Given the description of an element on the screen output the (x, y) to click on. 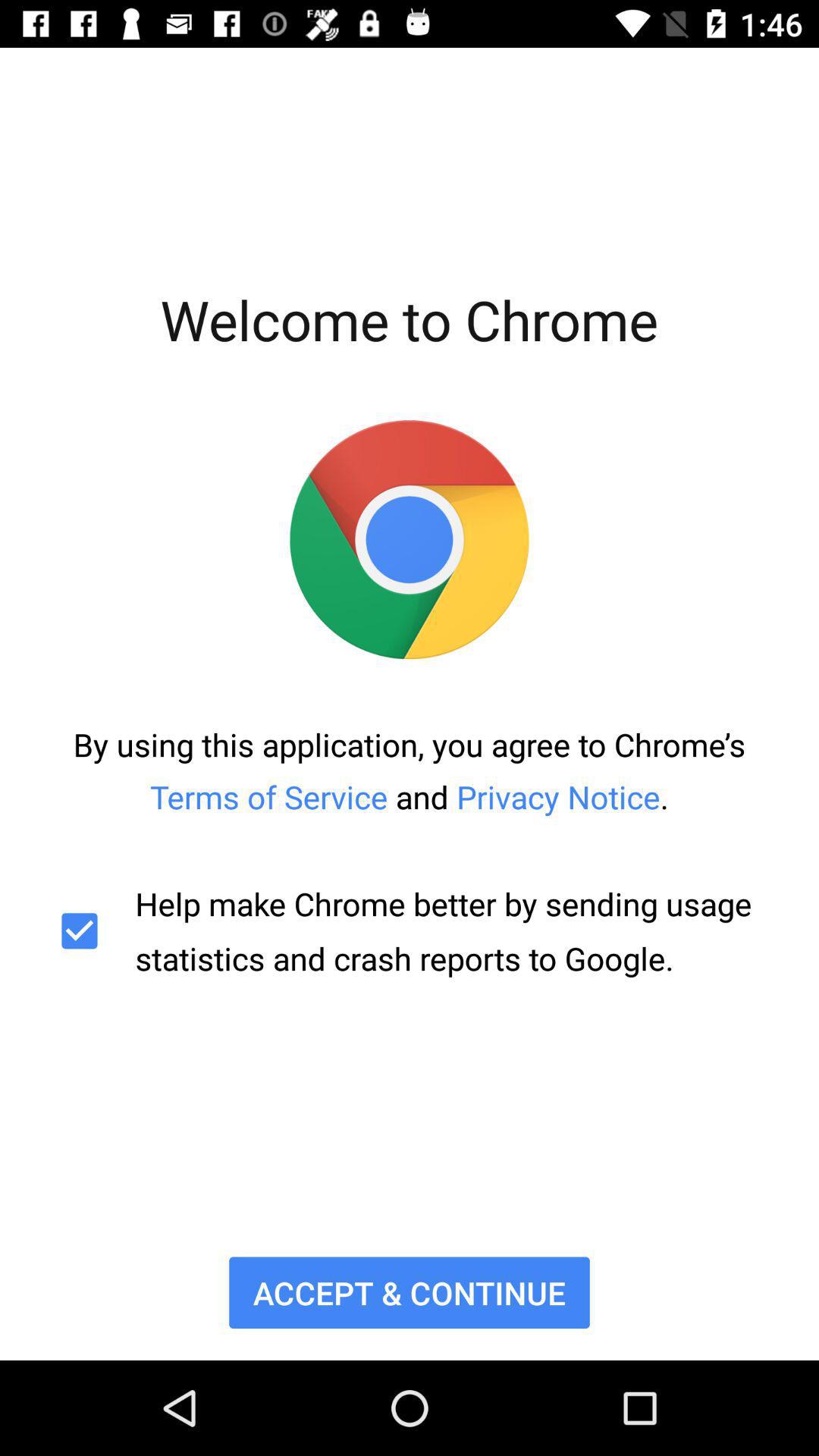
turn off the icon above help make chrome (409, 770)
